Given the description of an element on the screen output the (x, y) to click on. 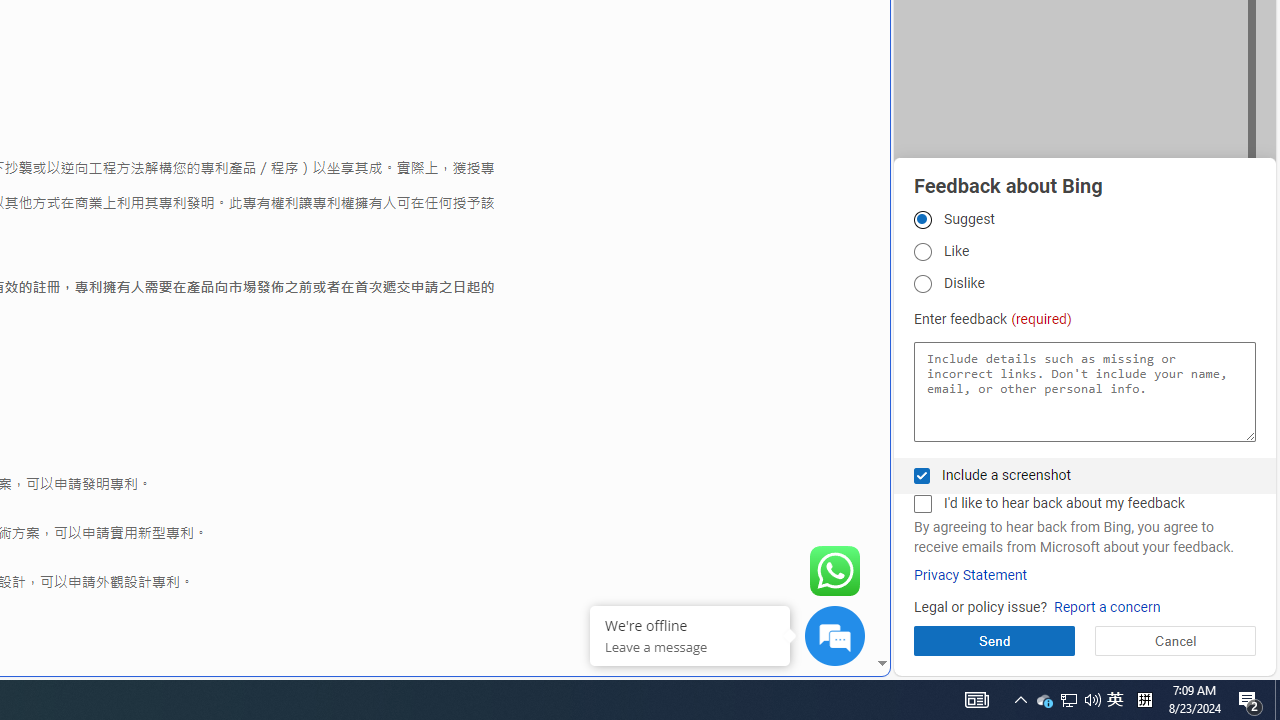
Privacy Statement (970, 575)
Send (994, 640)
I'd like to hear back about my feedback (922, 503)
Suggest (922, 219)
Report a concern (1106, 607)
Like (922, 251)
google_privacy_policy_zh-CN.pdf (687, 482)
Cancel (1174, 640)
Include a screenshot (921, 475)
